Given the description of an element on the screen output the (x, y) to click on. 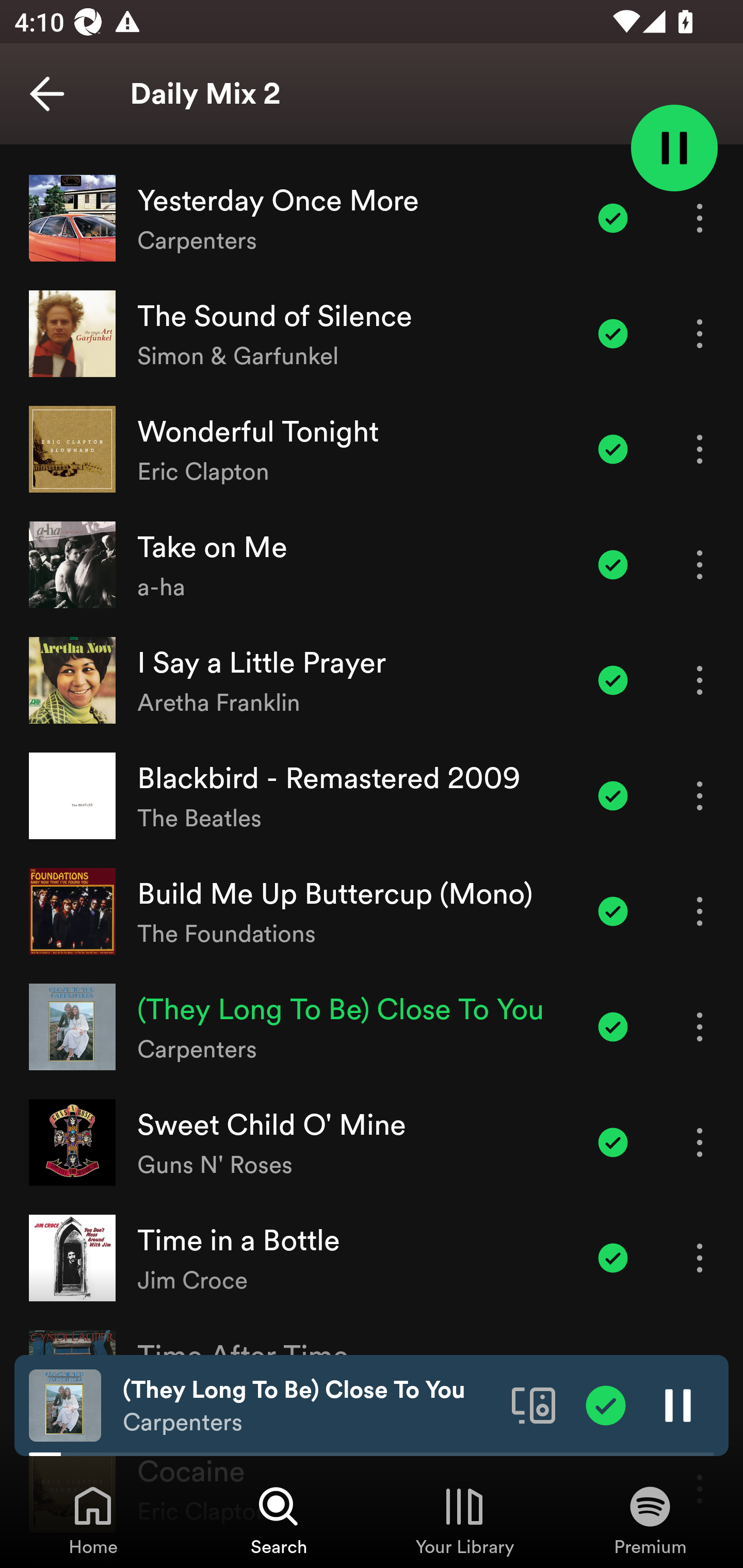
Back (46, 93)
Pause playlist (674, 147)
Item added (612, 218)
More options for song Yesterday Once More (699, 218)
Item added (612, 333)
More options for song The Sound of Silence (699, 333)
Item added (612, 449)
More options for song Wonderful Tonight (699, 449)
Item added (612, 565)
More options for song Take on Me (699, 565)
Item added (612, 680)
More options for song I Say a Little Prayer (699, 680)
Item added (612, 795)
More options for song Blackbird - Remastered 2009 (699, 795)
Item added (612, 911)
More options for song Build Me Up Buttercup (Mono) (699, 911)
Item added (612, 1026)
Item added (612, 1142)
More options for song Sweet Child O' Mine (699, 1142)
Item added (612, 1258)
More options for song Time in a Bottle (699, 1258)
(They Long To Be) Close To You Carpenters (309, 1405)
The cover art of the currently playing track (64, 1404)
Connect to a device. Opens the devices menu (533, 1404)
Item added (605, 1404)
Pause (677, 1404)
Home, Tab 1 of 4 Home Home (92, 1519)
Search, Tab 2 of 4 Search Search (278, 1519)
Your Library, Tab 3 of 4 Your Library Your Library (464, 1519)
Premium, Tab 4 of 4 Premium Premium (650, 1519)
